Given the description of an element on the screen output the (x, y) to click on. 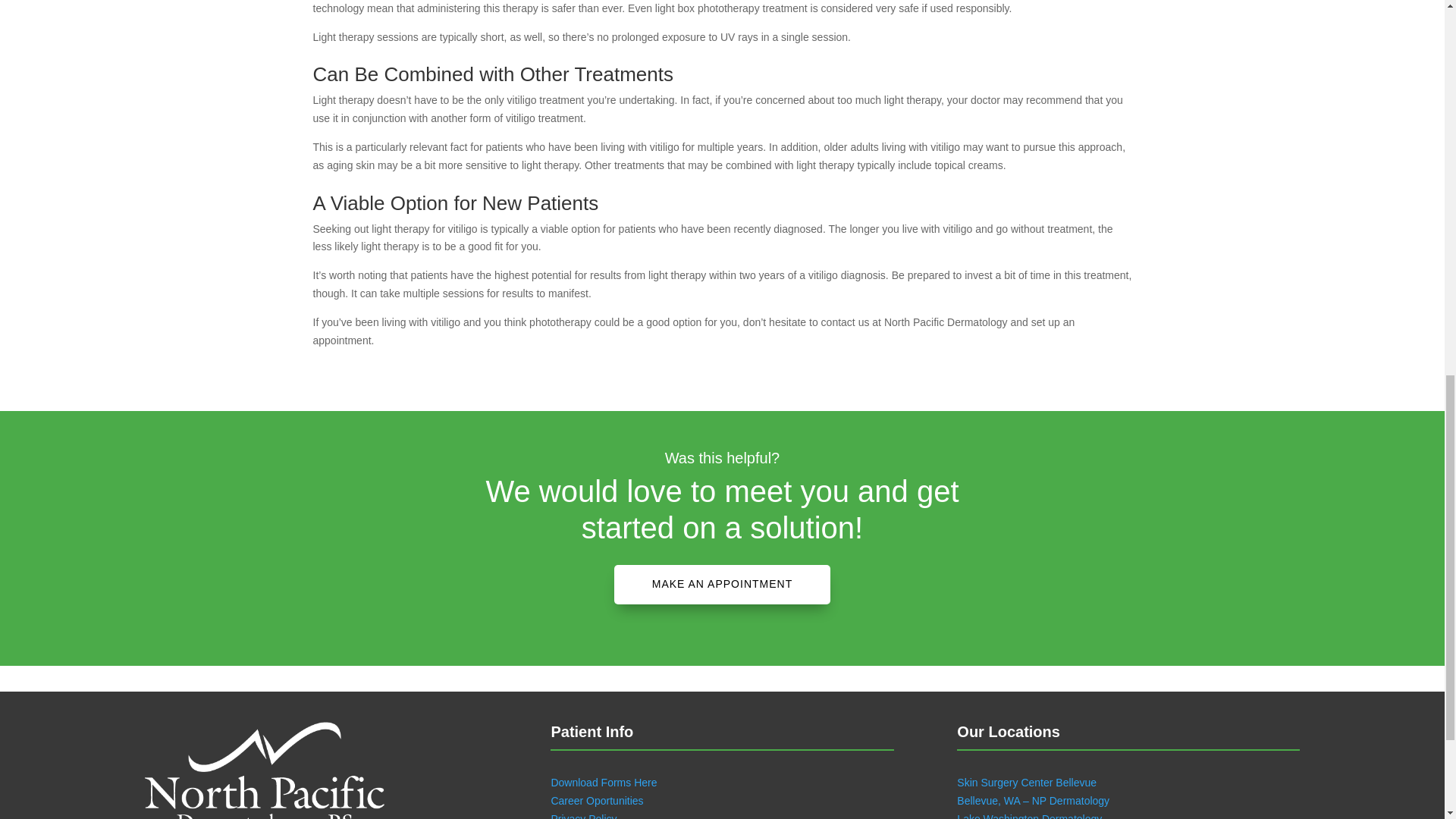
Career Oportunities (596, 800)
Privacy Policy (582, 816)
MAKE AN APPOINTMENT (721, 584)
NorthPacificDermatology-logo-w (264, 770)
Download Forms Here (603, 782)
Skin Surgery Center Bellevue (1026, 782)
